Given the description of an element on the screen output the (x, y) to click on. 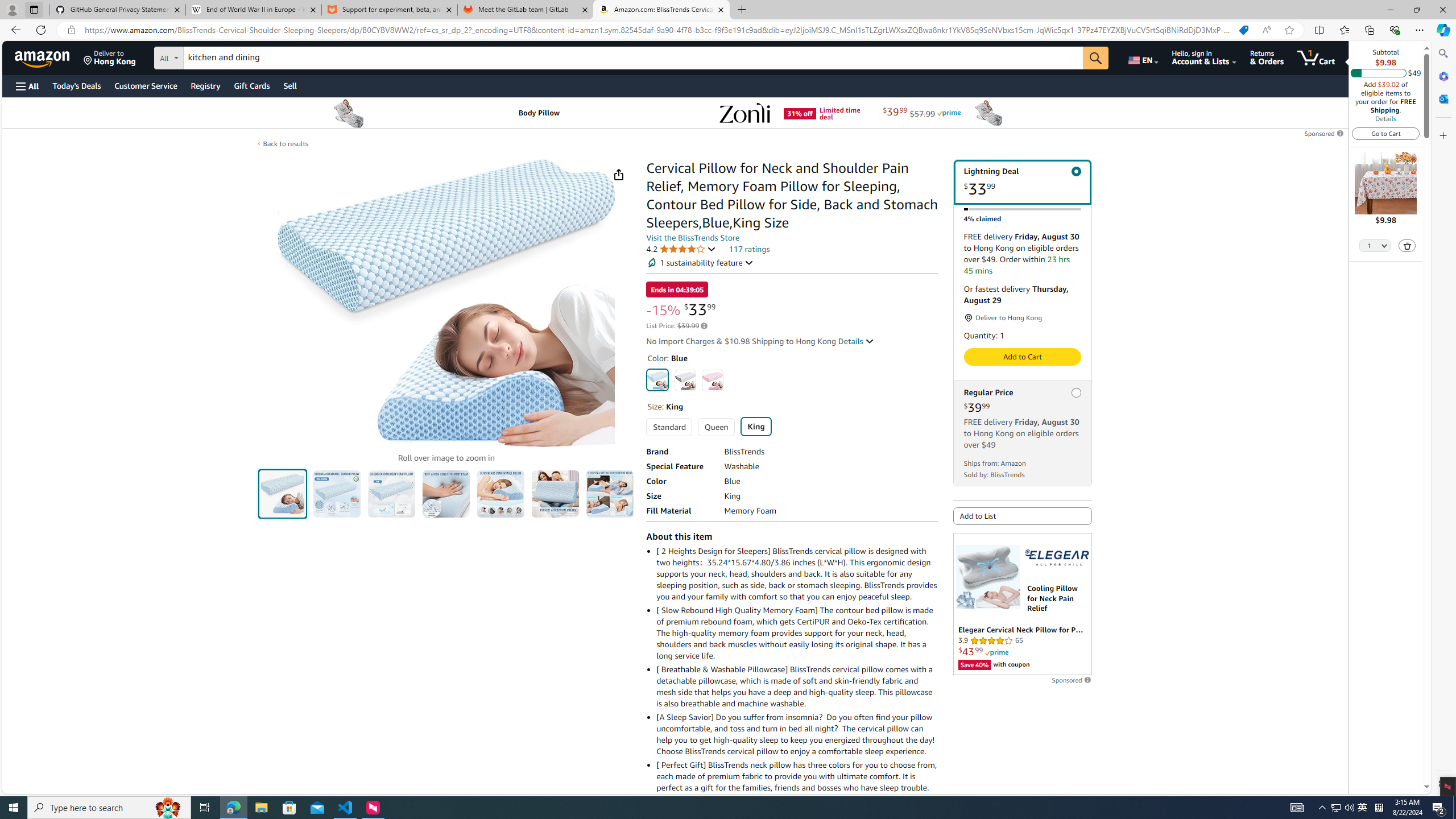
Deliver to Hong Kong (109, 57)
Blue (657, 379)
117 ratings (749, 248)
King (755, 425)
Choose a language for shopping. (1142, 57)
Customer Service (145, 85)
Queen (715, 426)
Pink (711, 380)
Search in (210, 56)
